Given the description of an element on the screen output the (x, y) to click on. 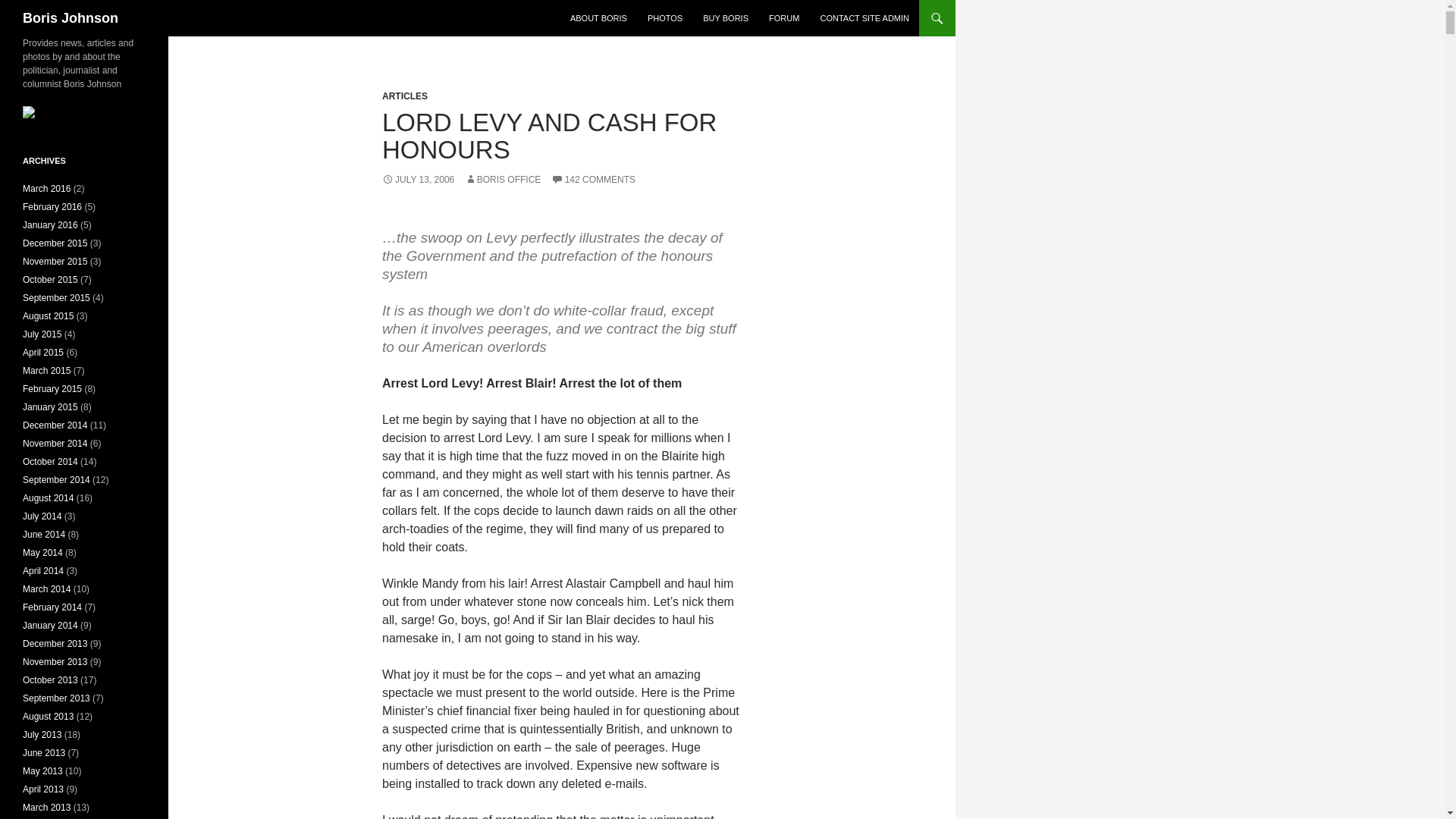
BUY BORIS (725, 18)
ARTICLES (404, 95)
Boris Johnson (70, 18)
FORUM (784, 18)
BORIS OFFICE (502, 179)
ABOUT BORIS (598, 18)
JULY 13, 2006 (417, 179)
PHOTOS (665, 18)
CONTACT SITE ADMIN (864, 18)
142 COMMENTS (592, 179)
